Given the description of an element on the screen output the (x, y) to click on. 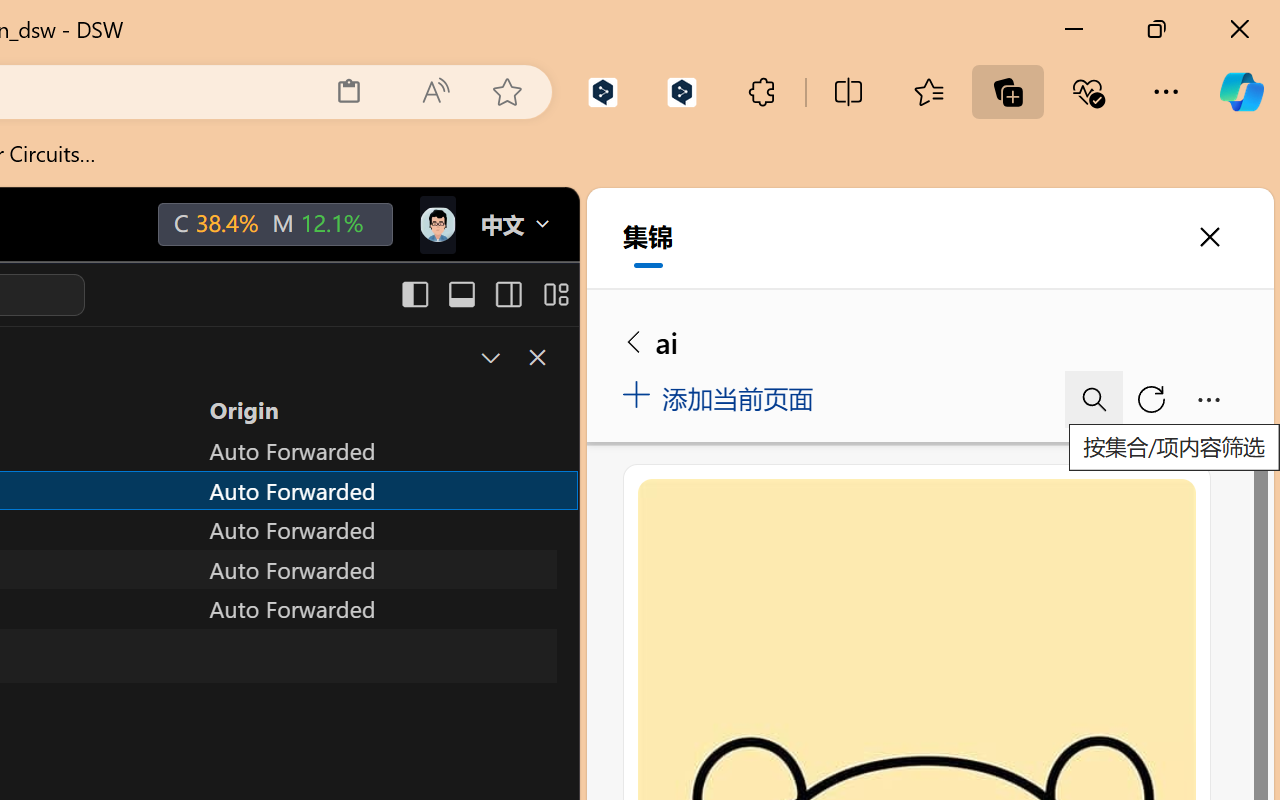
Toggle Secondary Side Bar (Ctrl+Alt+B) (506, 294)
Toggle Panel (Ctrl+J) (461, 294)
Class: next-menu next-hoz widgets--iconMenu--BFkiHRM (436, 225)
Class: actions-container (516, 358)
Restore Panel Size (488, 357)
Customize Layout... (553, 294)
